Given the description of an element on the screen output the (x, y) to click on. 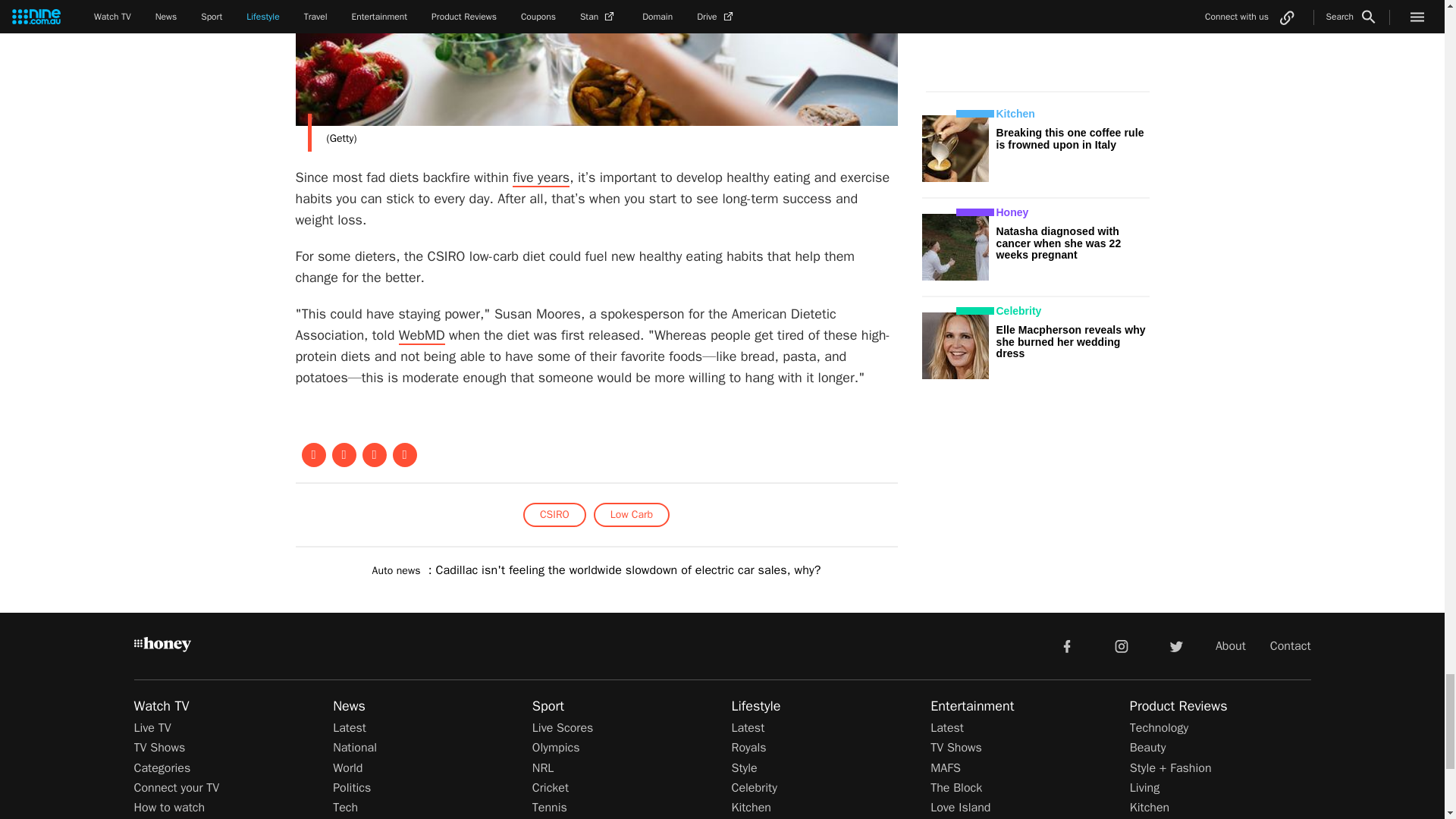
facebook (1066, 644)
instagram (1121, 644)
twitter (1175, 644)
